Given the description of an element on the screen output the (x, y) to click on. 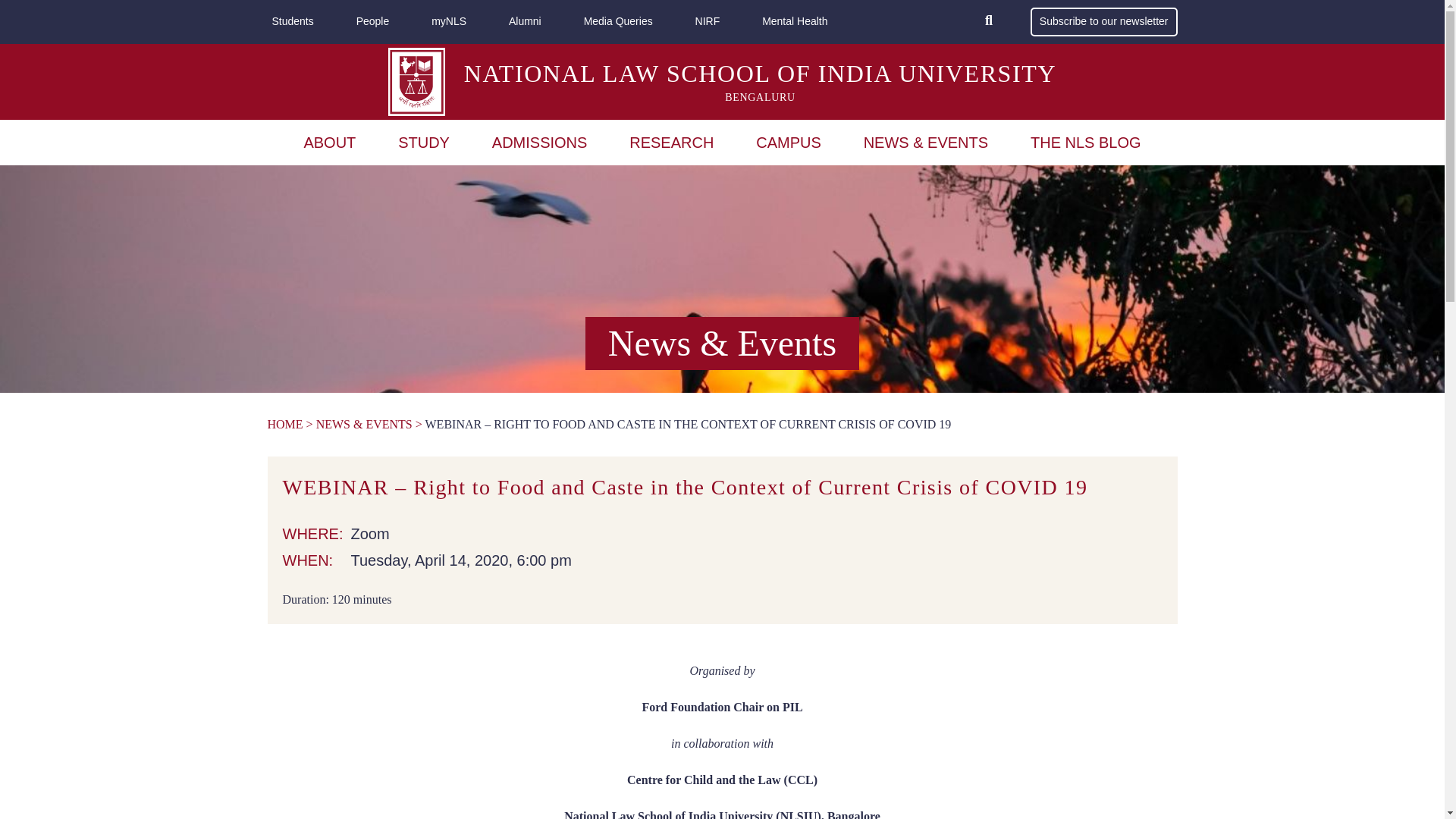
Subscribe to our newsletter (1103, 21)
myNLS (448, 21)
Students (291, 21)
Mental Health (794, 21)
People (373, 21)
Media Queries (618, 21)
Alumni (524, 21)
NIRF (707, 21)
